Given the description of an element on the screen output the (x, y) to click on. 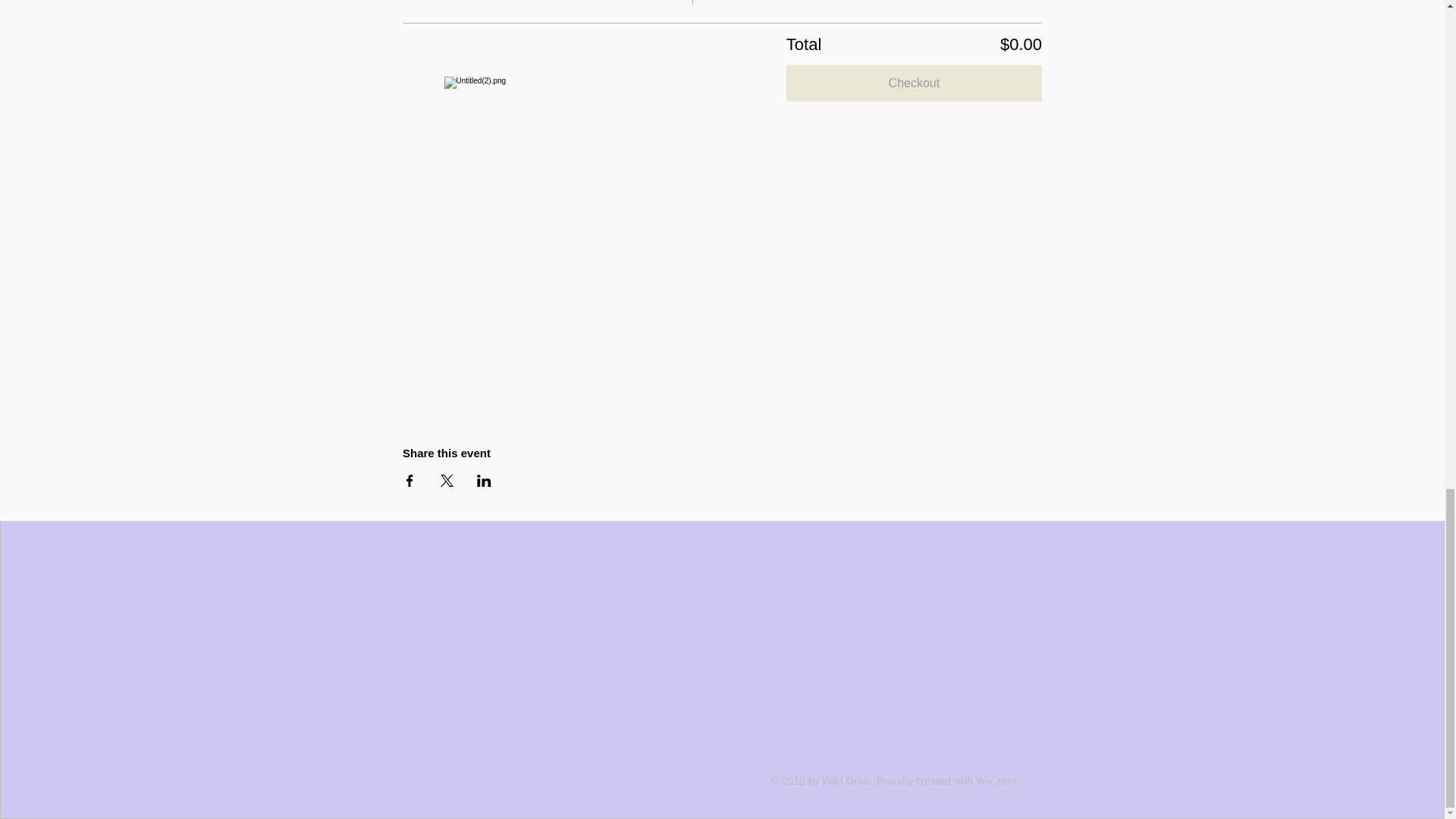
Wix.com (995, 780)
Checkout (914, 83)
More info (434, 2)
